Given the description of an element on the screen output the (x, y) to click on. 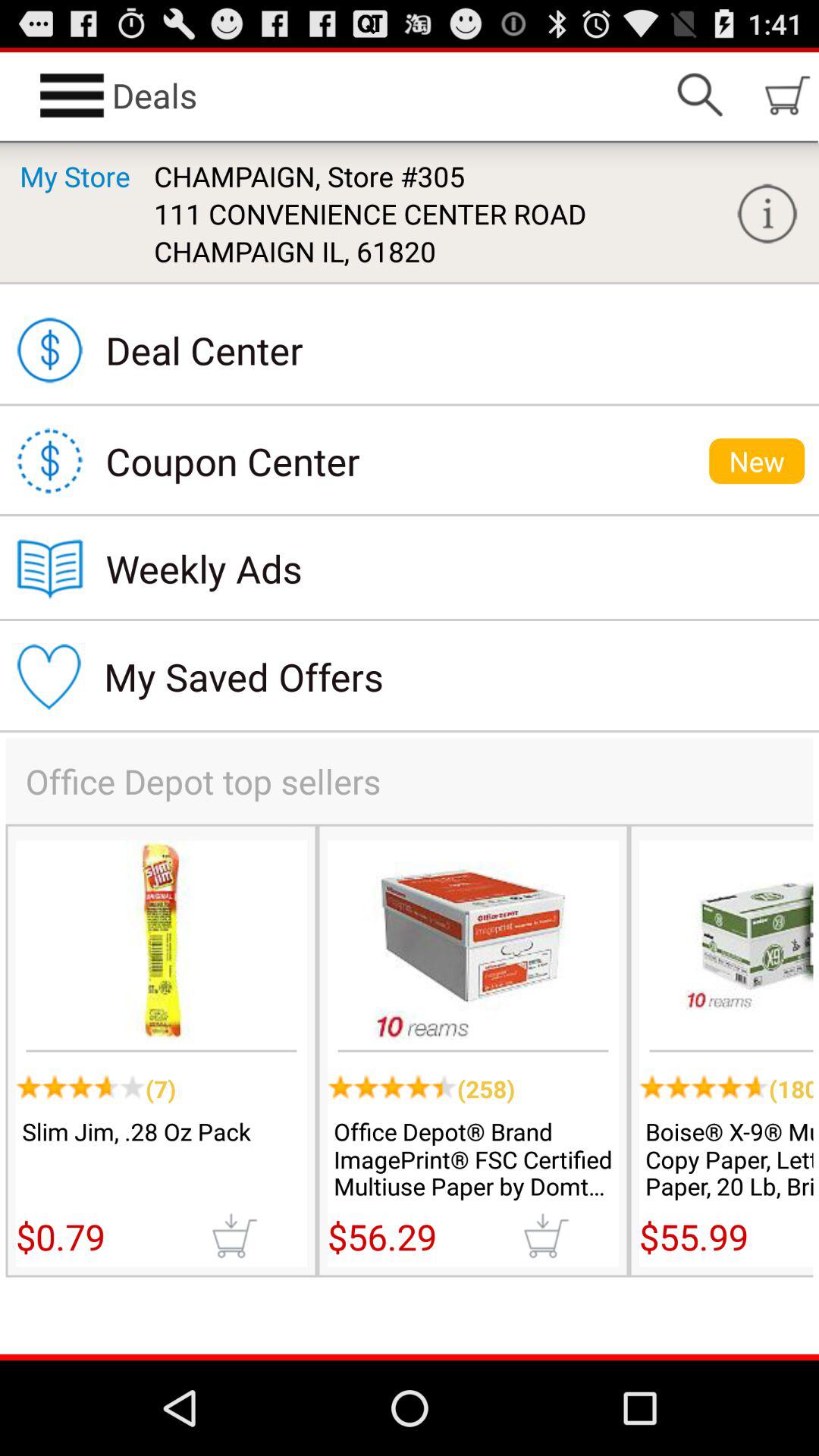
more information (767, 213)
